Given the description of an element on the screen output the (x, y) to click on. 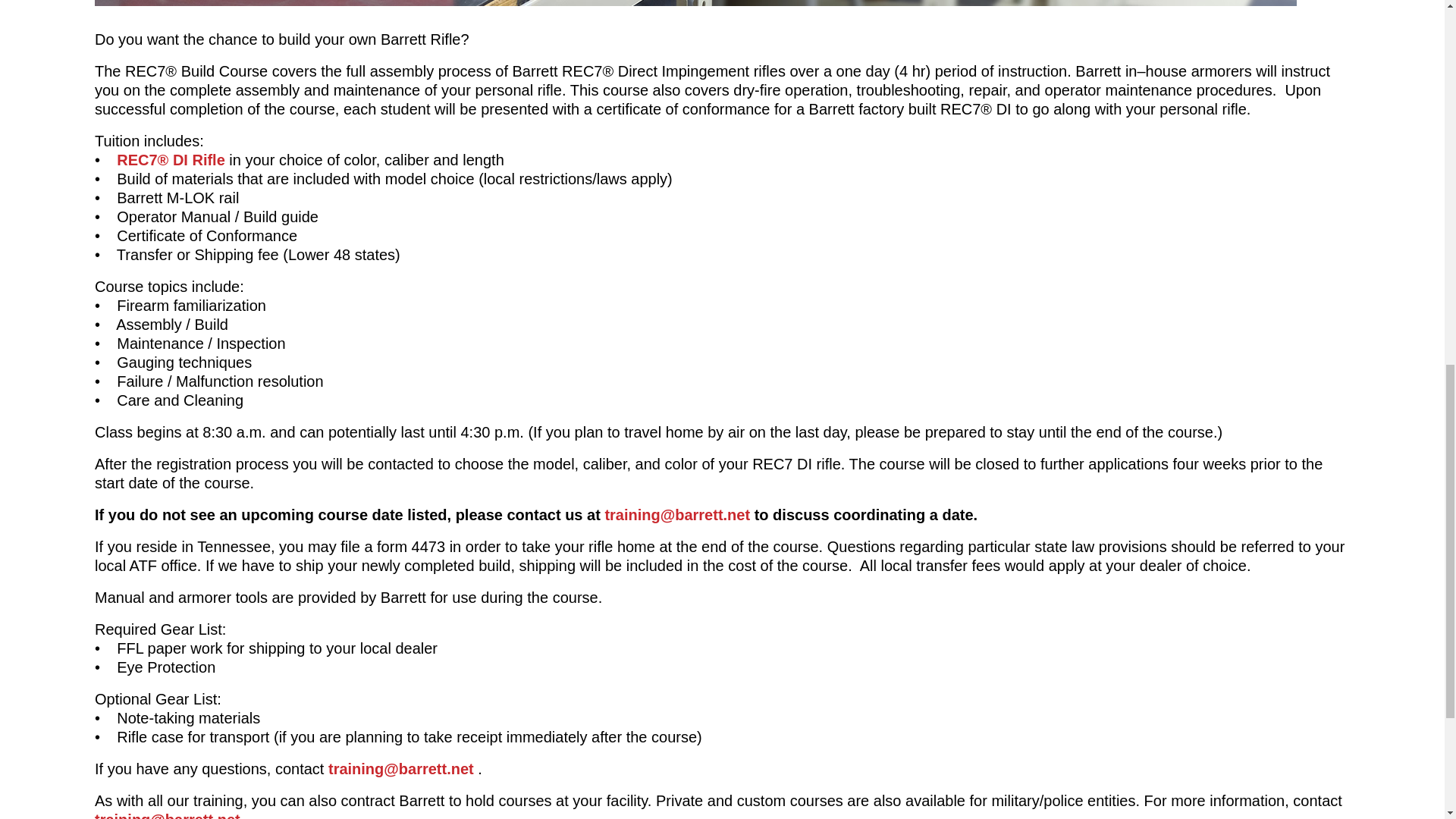
REC7 GEN II (170, 159)
Email Us (401, 768)
Email Us (167, 815)
Email Us (676, 514)
